Given the description of an element on the screen output the (x, y) to click on. 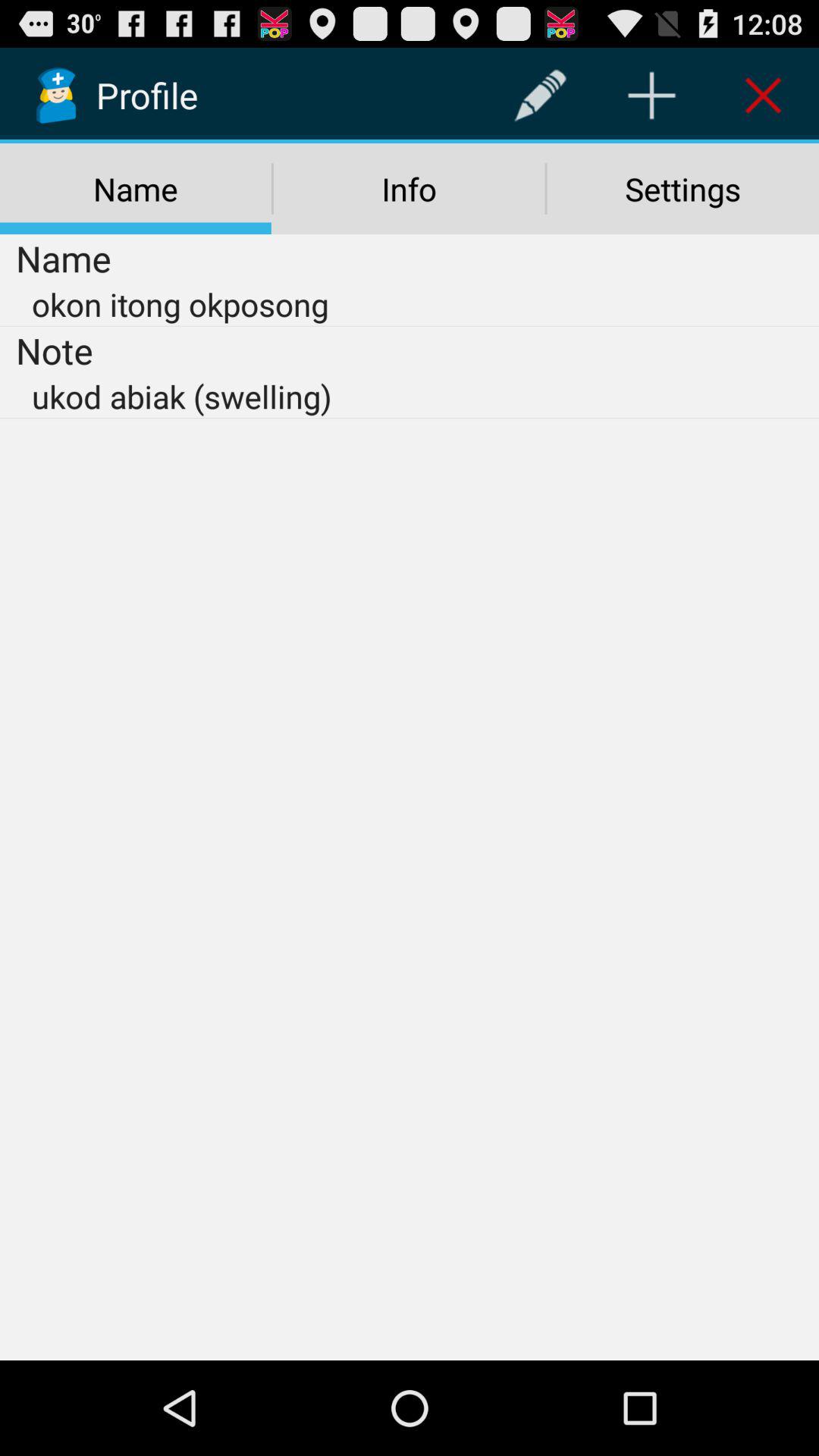
choose the info icon (408, 188)
